Given the description of an element on the screen output the (x, y) to click on. 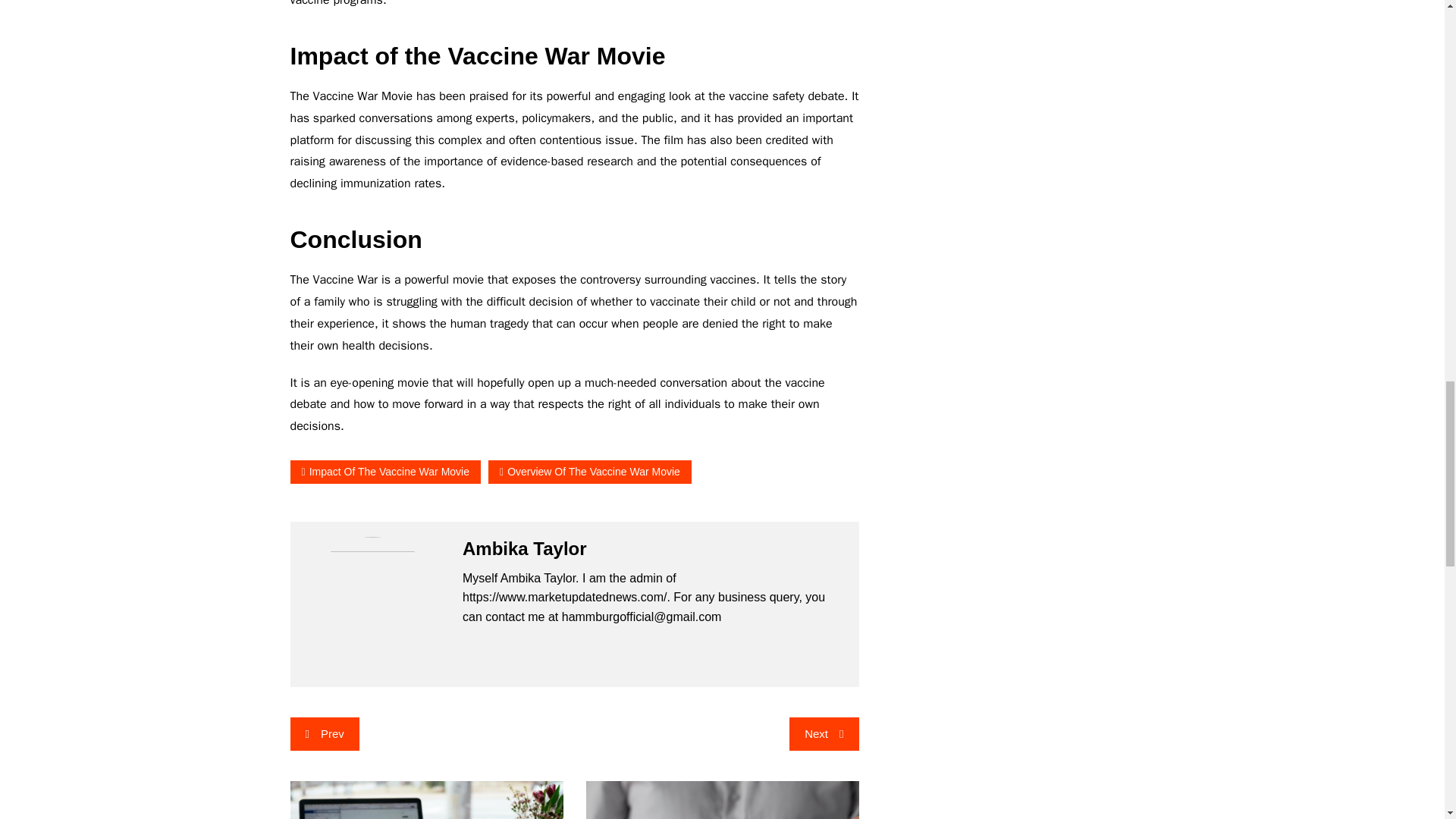
Overview Of The Vaccine War Movie (589, 472)
Impact Of The Vaccine War Movie (384, 472)
Next (824, 734)
Prev (323, 734)
